Given the description of an element on the screen output the (x, y) to click on. 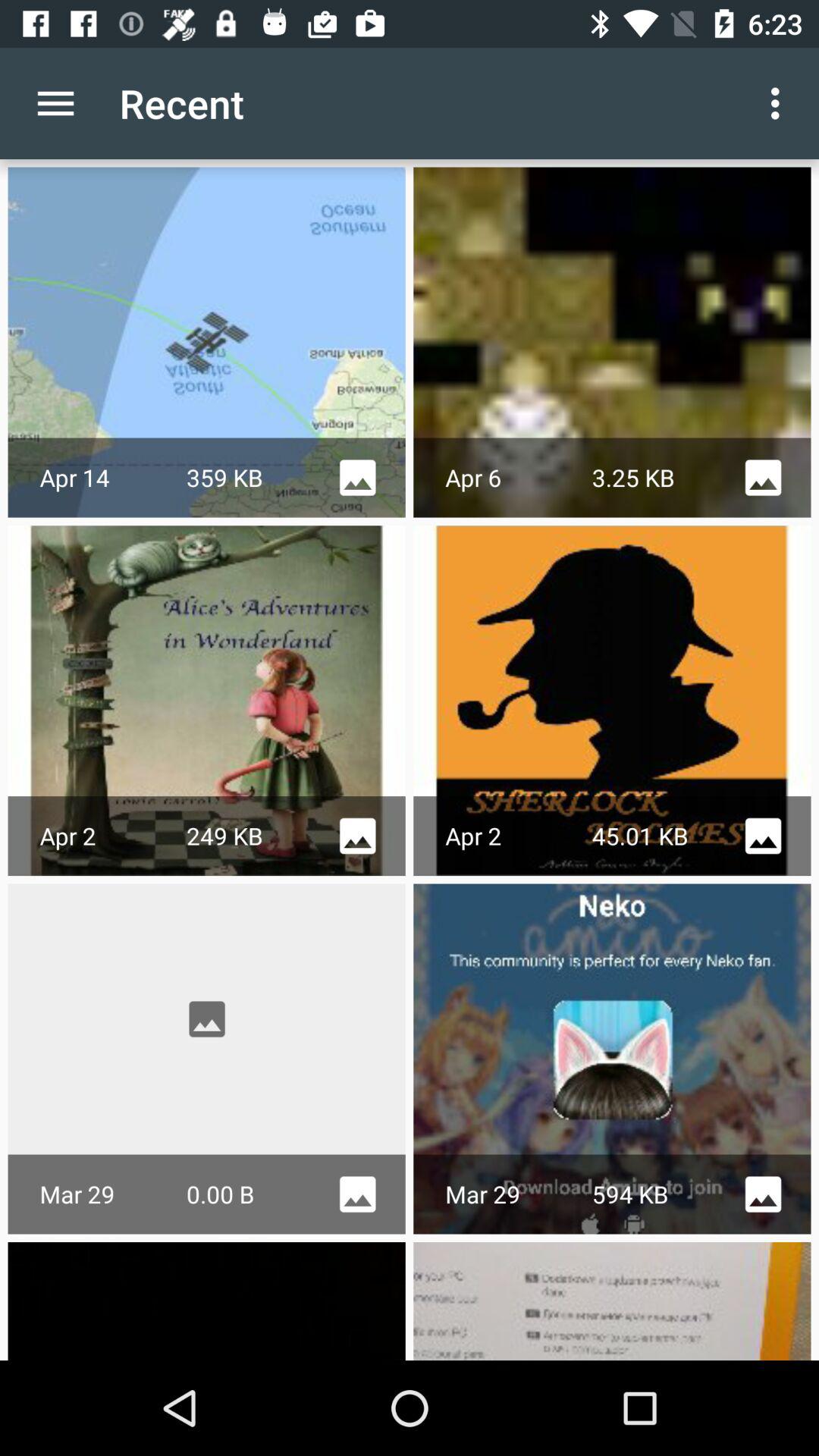
click item to the right of recent icon (779, 103)
